Given the description of an element on the screen output the (x, y) to click on. 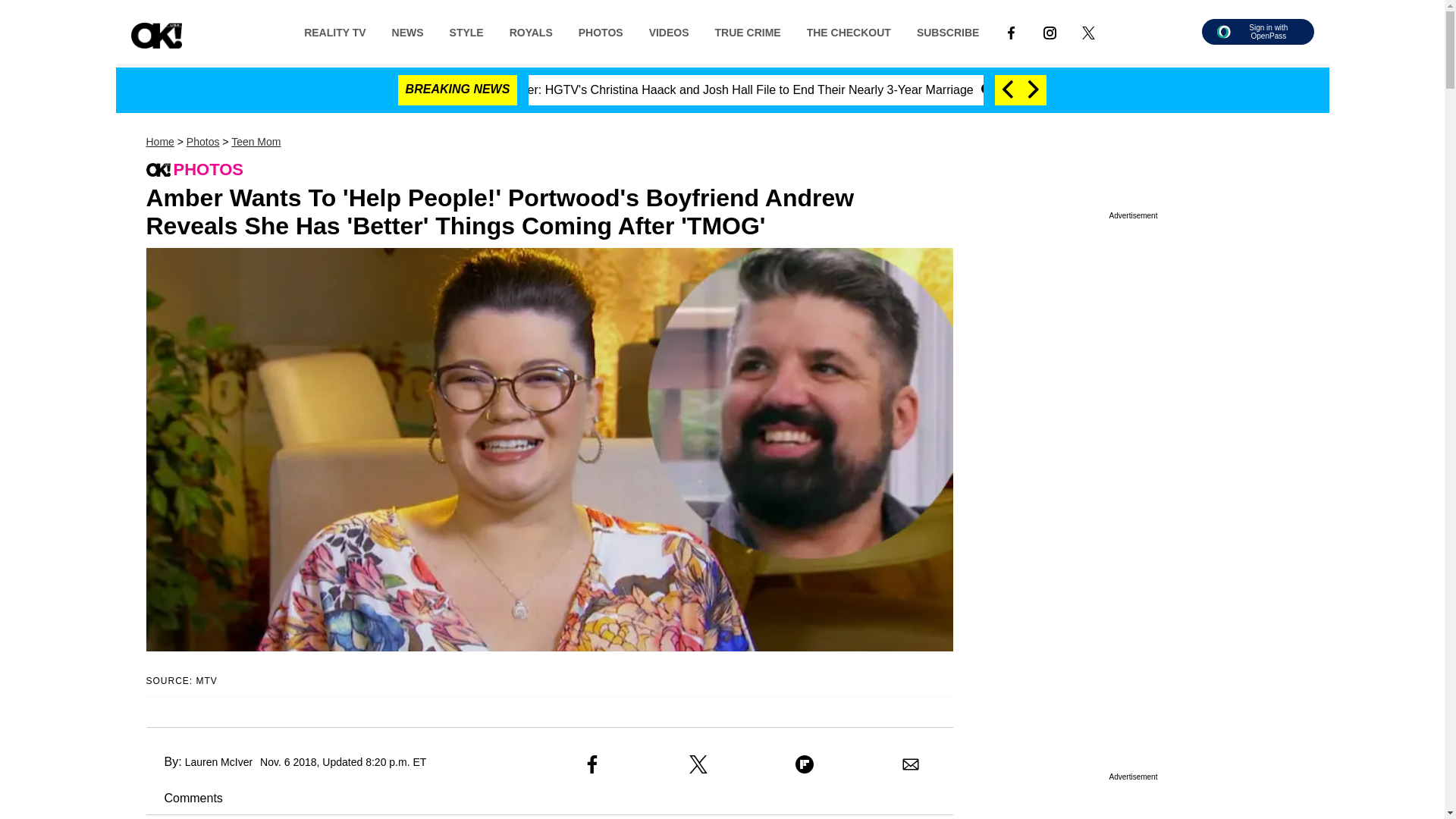
3rd party ad content (1132, 362)
REALITY TV (334, 31)
Share to Email (909, 764)
NEWS (407, 31)
LINK TO X (1088, 31)
Share to Flipboard (803, 764)
Comments (183, 797)
Sign in with OpenPass (1257, 31)
LINK TO X (1087, 32)
ROYALS (531, 31)
Teen Mom (256, 141)
Link to X (1088, 31)
SUBSCRIBE (947, 31)
STYLE (466, 31)
